Given the description of an element on the screen output the (x, y) to click on. 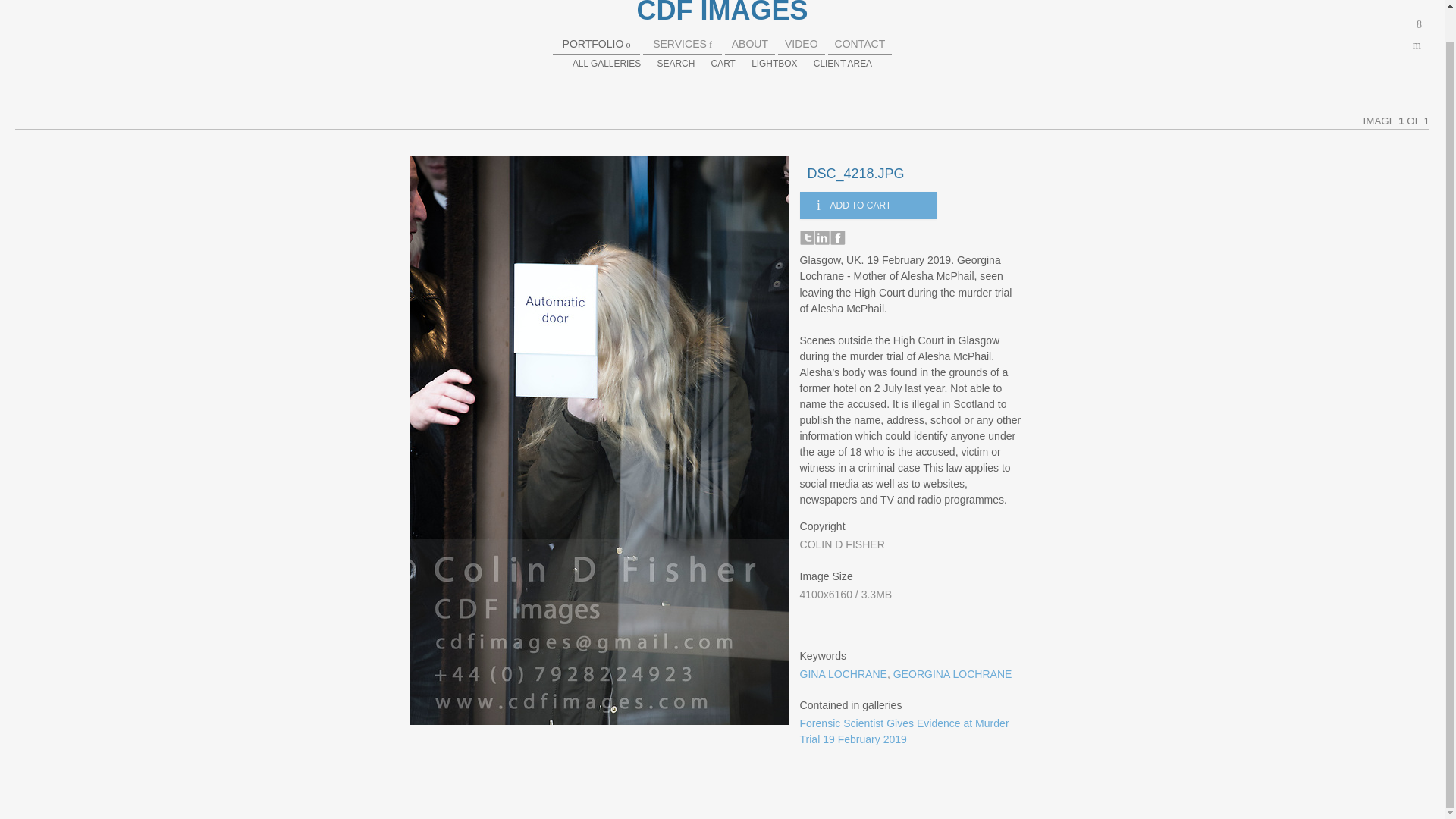
Add to Cart (867, 205)
CDF IMAGES (722, 12)
GEORGINA LOCHRANE (952, 674)
SEARCH (676, 63)
x (1419, 24)
ALL GALLERIES (606, 63)
CLIENT AREA (842, 63)
CART (723, 63)
CONTACT (859, 43)
LIGHTBOX (773, 63)
ADD TO CART (867, 205)
VIDEO (801, 43)
ABOUT (750, 43)
CDF IMAGES (722, 12)
